Given the description of an element on the screen output the (x, y) to click on. 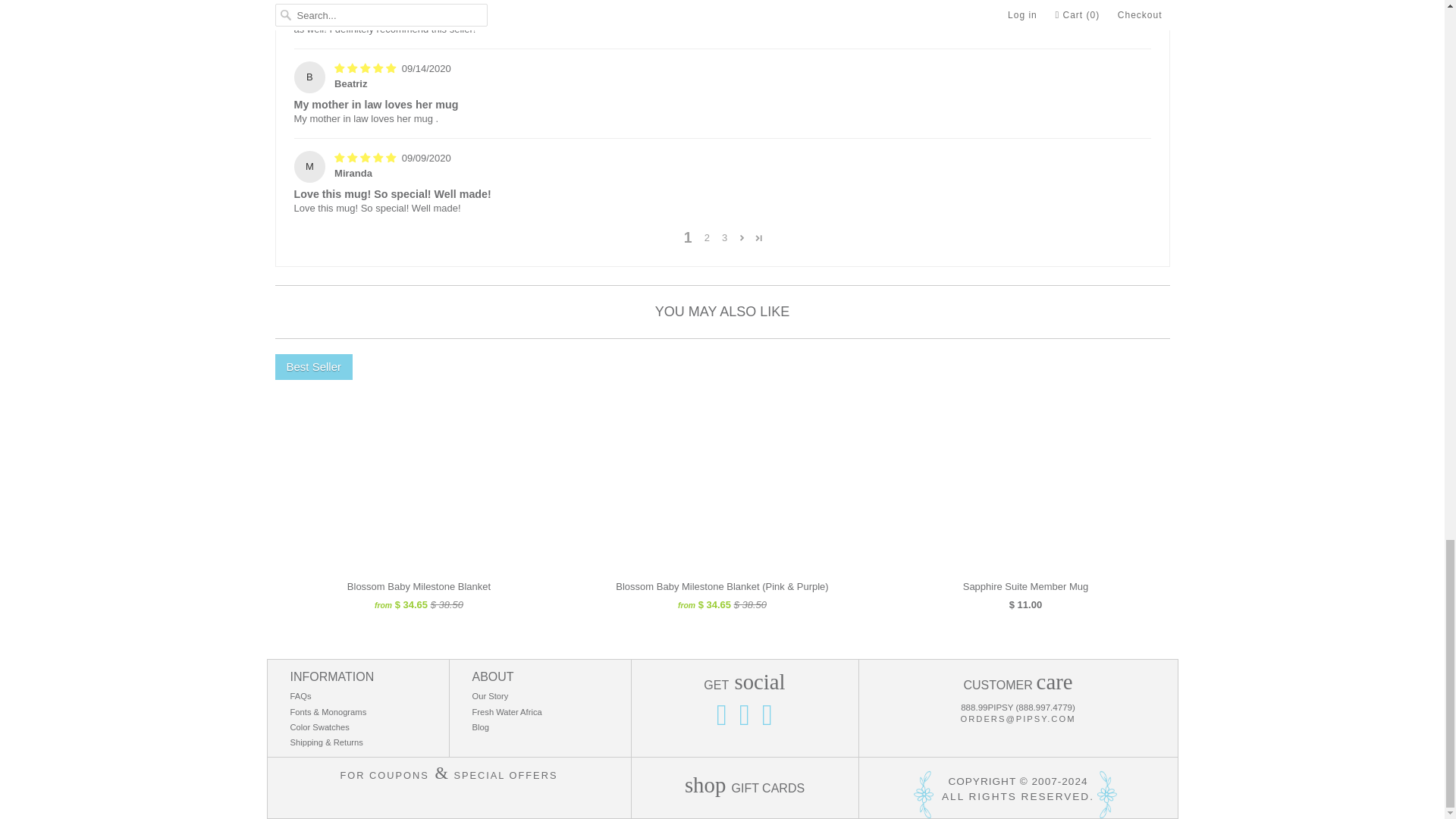
Pipsy on Instagram (721, 715)
Pipsy on Facebook (767, 715)
Pipsy on Pinterest (744, 715)
